Given the description of an element on the screen output the (x, y) to click on. 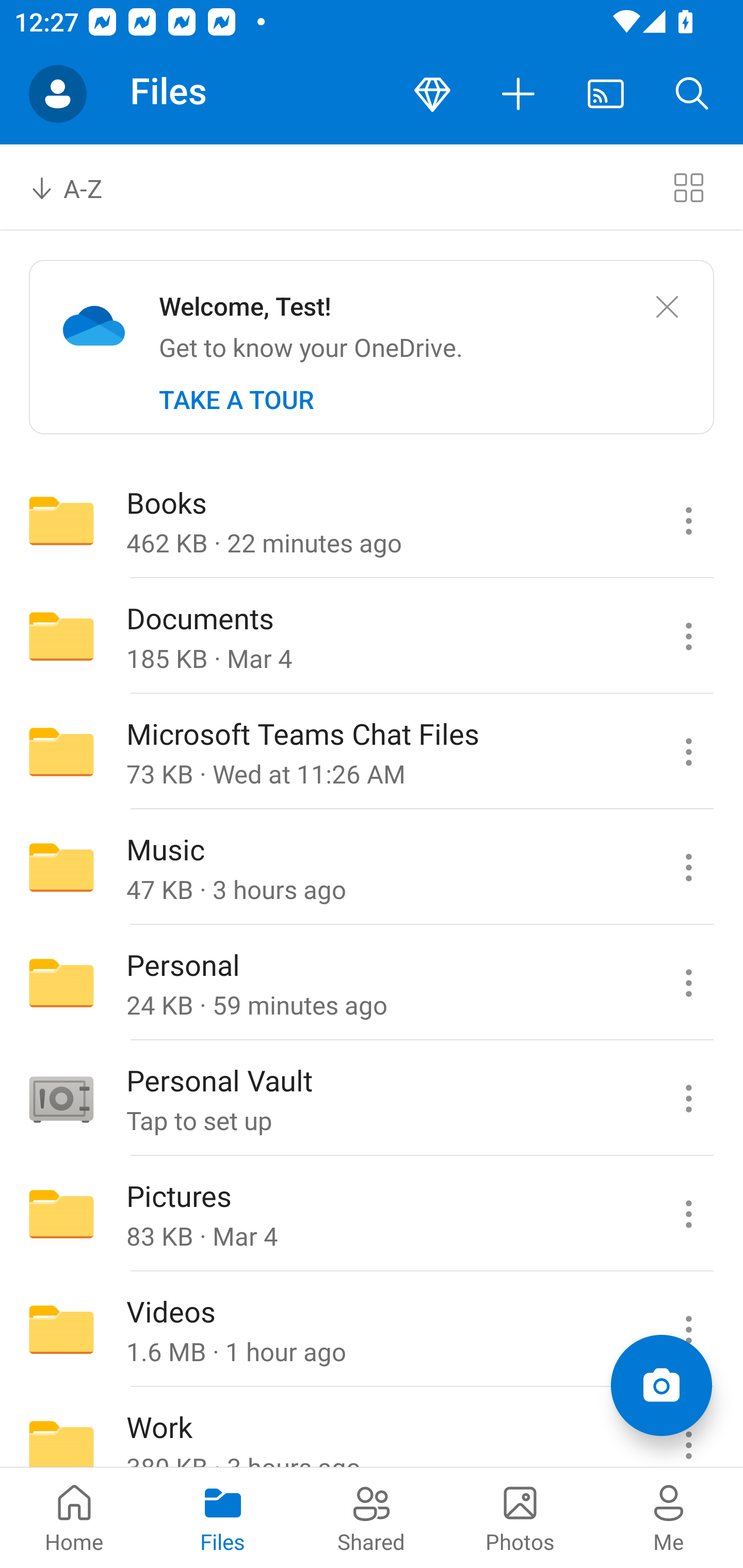
Account switcher (57, 93)
Cast. Disconnected (605, 93)
Premium button (432, 93)
More actions button (518, 93)
Search button (692, 93)
A-Z Sort by combo box, sort by name, A to Z (80, 187)
Switch to tiles view (688, 187)
Close (667, 307)
TAKE A TOUR (236, 399)
Books commands (688, 520)
Folder Documents 185 KB · Mar 4 Documents commands (371, 636)
Documents commands (688, 636)
Microsoft Teams Chat Files commands (688, 751)
Folder Music 47 KB · 3 hours ago Music commands (371, 867)
Music commands (688, 867)
Personal commands (688, 983)
Personal Vault commands (688, 1099)
Folder Pictures 83 KB · Mar 4 Pictures commands (371, 1214)
Pictures commands (688, 1214)
Folder Videos 1.6 MB · 1 hour ago Videos commands (371, 1329)
Videos commands (688, 1329)
Add items Scan (660, 1385)
Folder Work 380 KB · 3 hours ago Work commands (371, 1427)
Work commands (688, 1427)
Home pivot Home (74, 1517)
Shared pivot Shared (371, 1517)
Photos pivot Photos (519, 1517)
Me pivot Me (668, 1517)
